Given the description of an element on the screen output the (x, y) to click on. 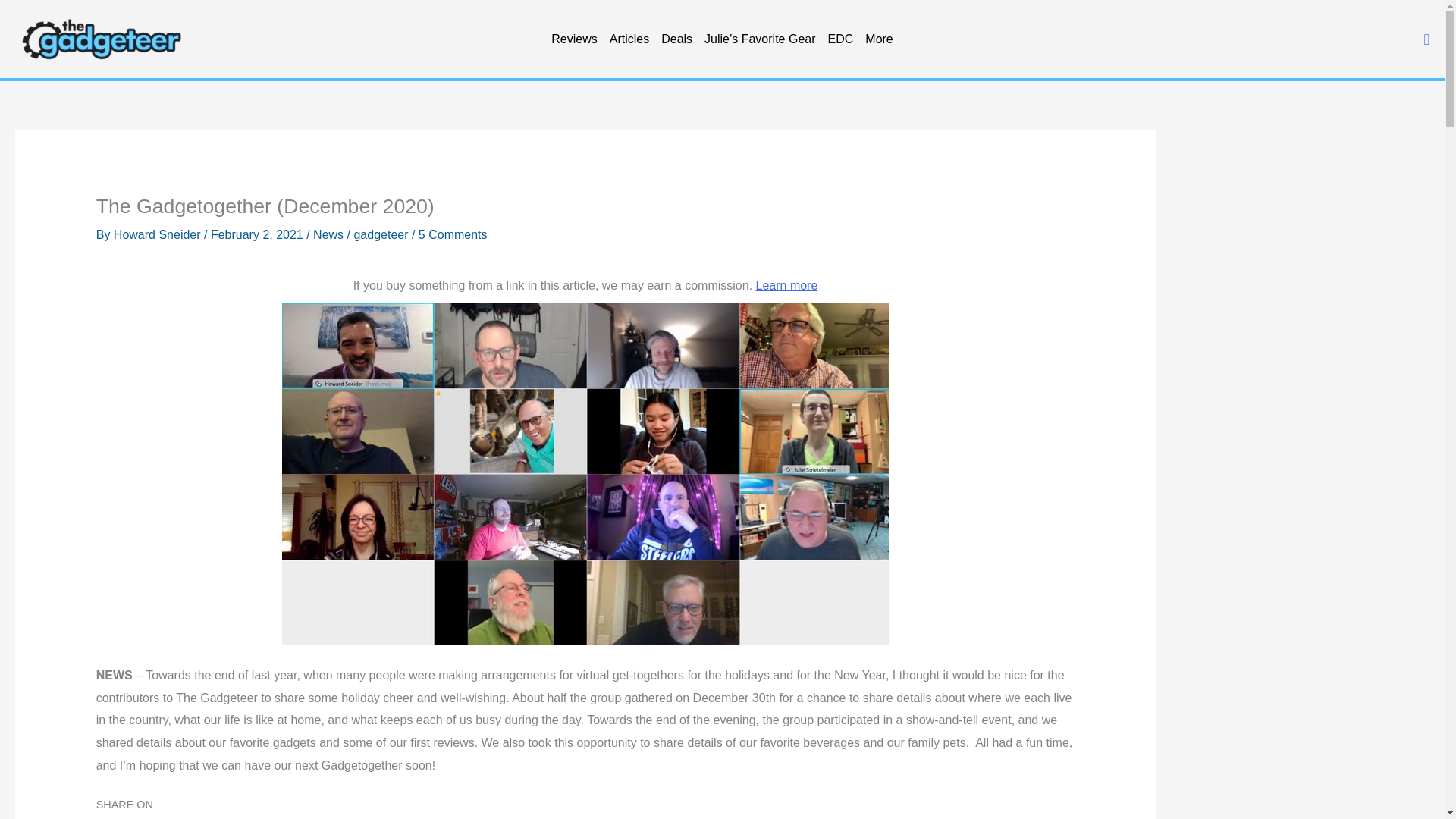
View all posts by Howard Sneider (158, 234)
Reviews (573, 39)
EDC (841, 39)
Deals (676, 39)
Articles (629, 39)
More (878, 39)
